Given the description of an element on the screen output the (x, y) to click on. 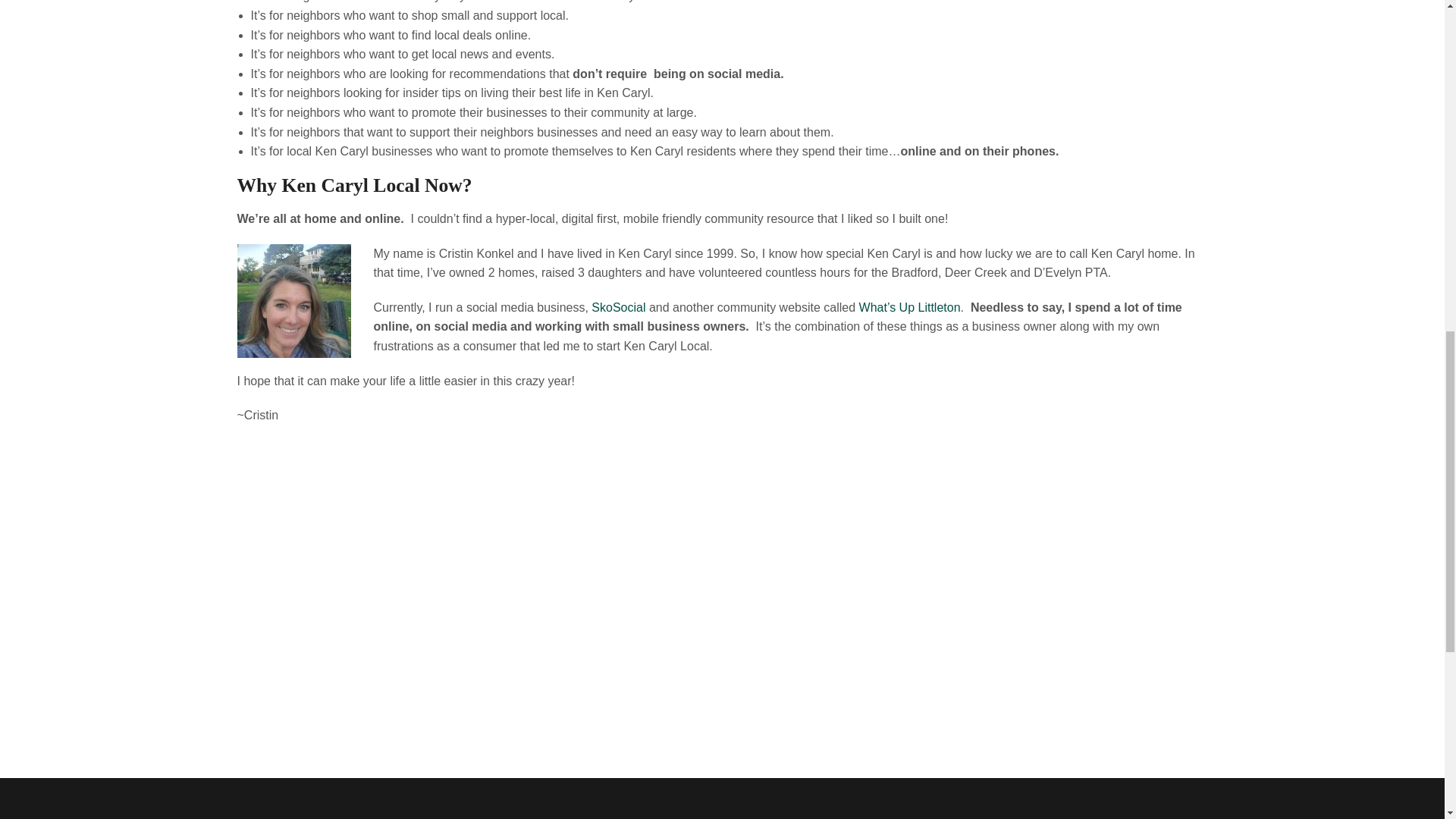
SkoSocial (618, 307)
LET'S TALK! (1146, 691)
